Given the description of an element on the screen output the (x, y) to click on. 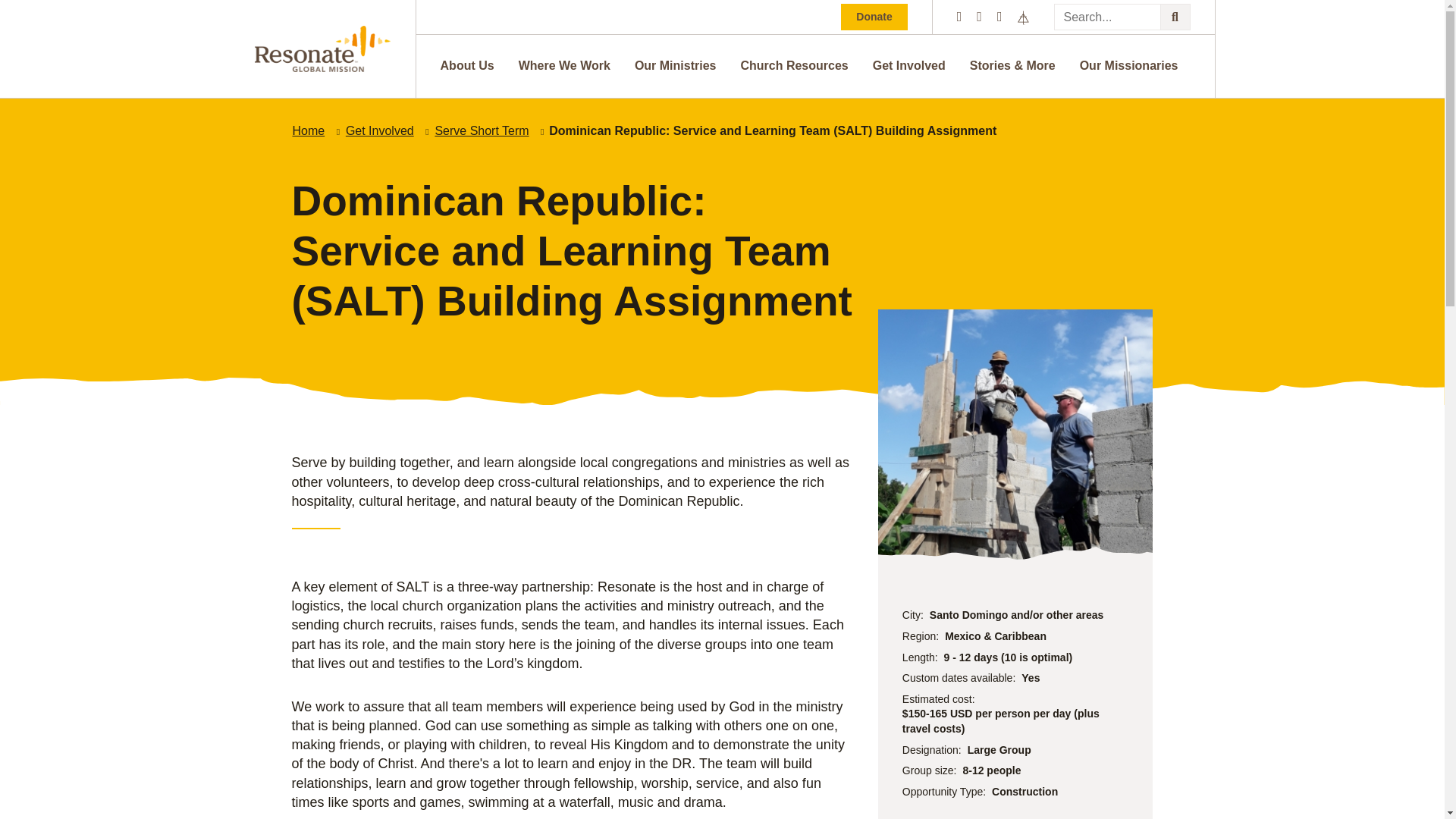
Serve Short Term (481, 130)
Donate (874, 17)
Our Ministries (675, 65)
Search (1175, 17)
Our Missionaries (1128, 65)
Where We Work (564, 65)
About Us (468, 65)
Search (1175, 17)
Get Involved (379, 130)
Church Resources (793, 65)
Home (307, 130)
SALT Construction (1015, 434)
Get Involved (908, 65)
Enter the terms you wish to search for. (1122, 17)
